Given the description of an element on the screen output the (x, y) to click on. 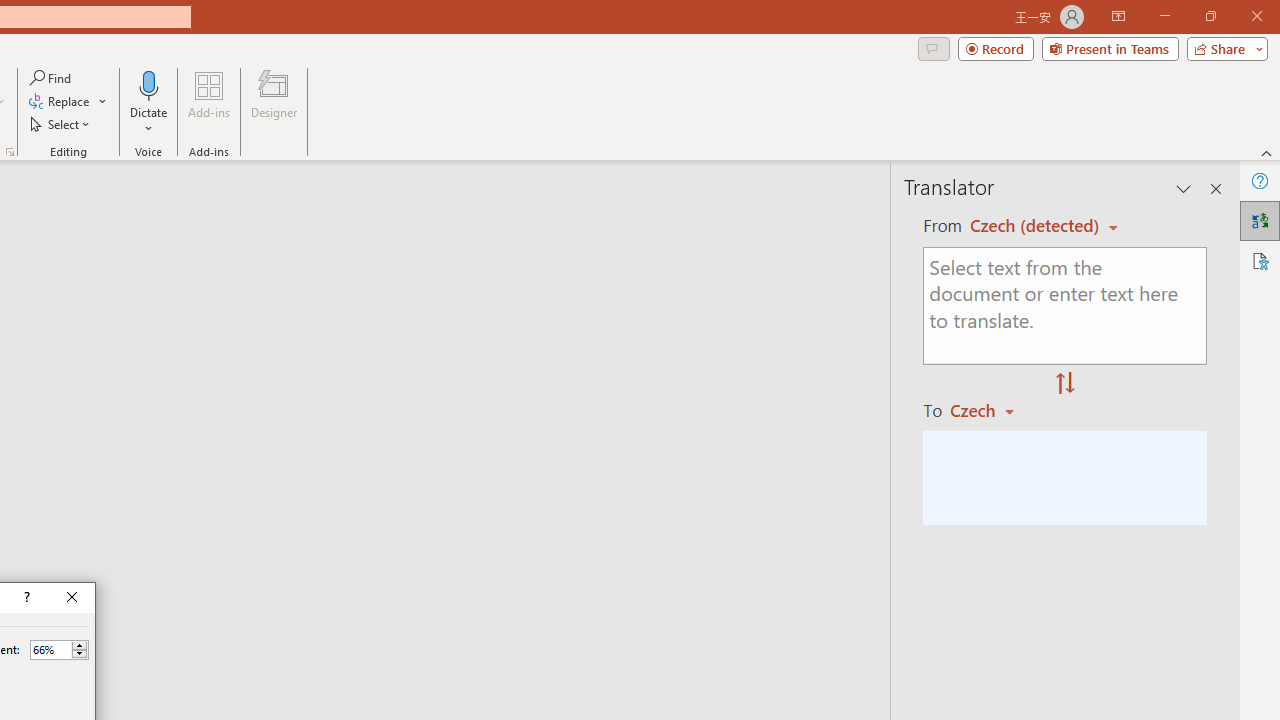
Czech (991, 409)
